Given the description of an element on the screen output the (x, y) to click on. 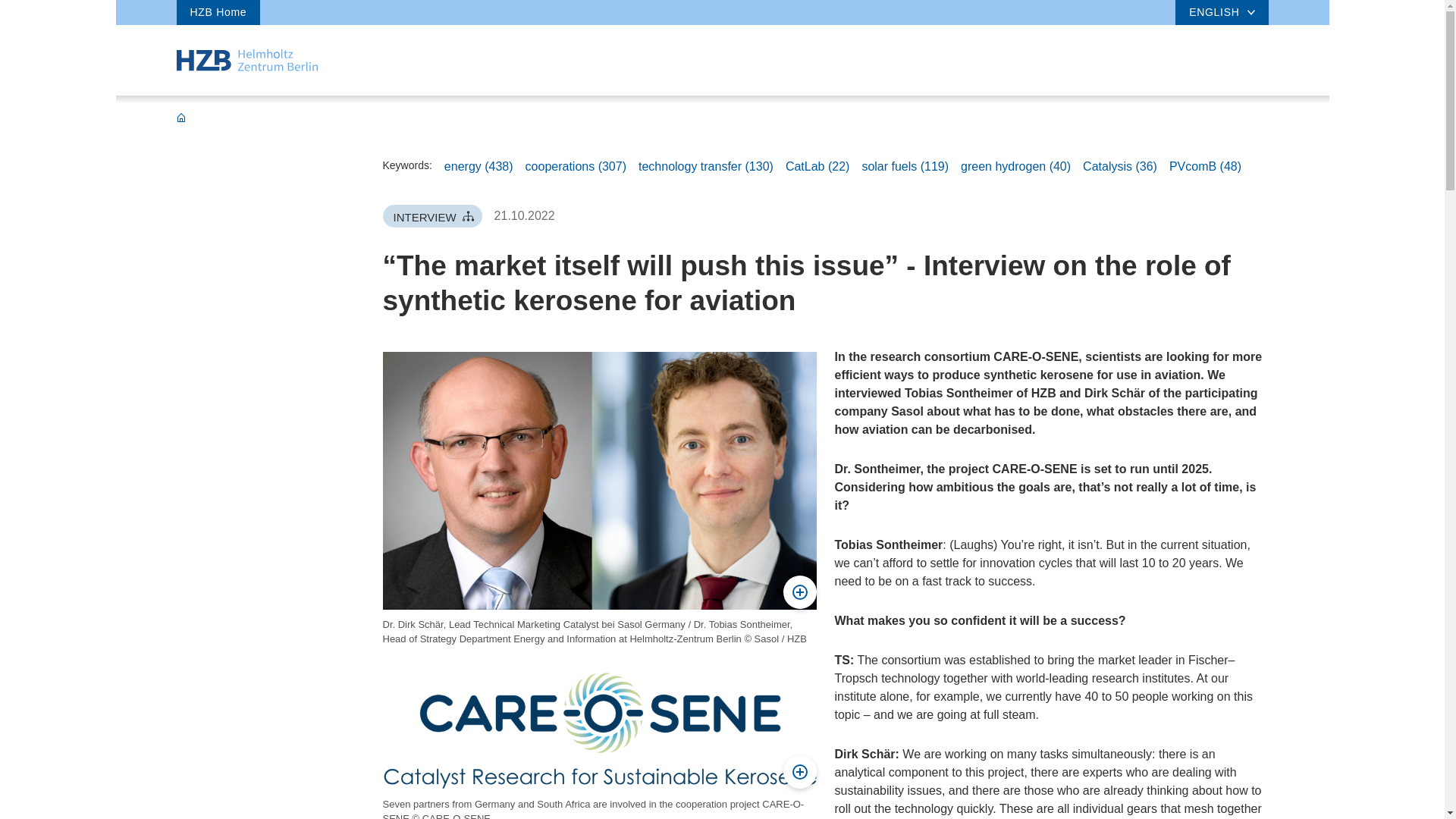
HZB Home (218, 12)
ENGLISH (1221, 12)
Home (246, 60)
